Given the description of an element on the screen output the (x, y) to click on. 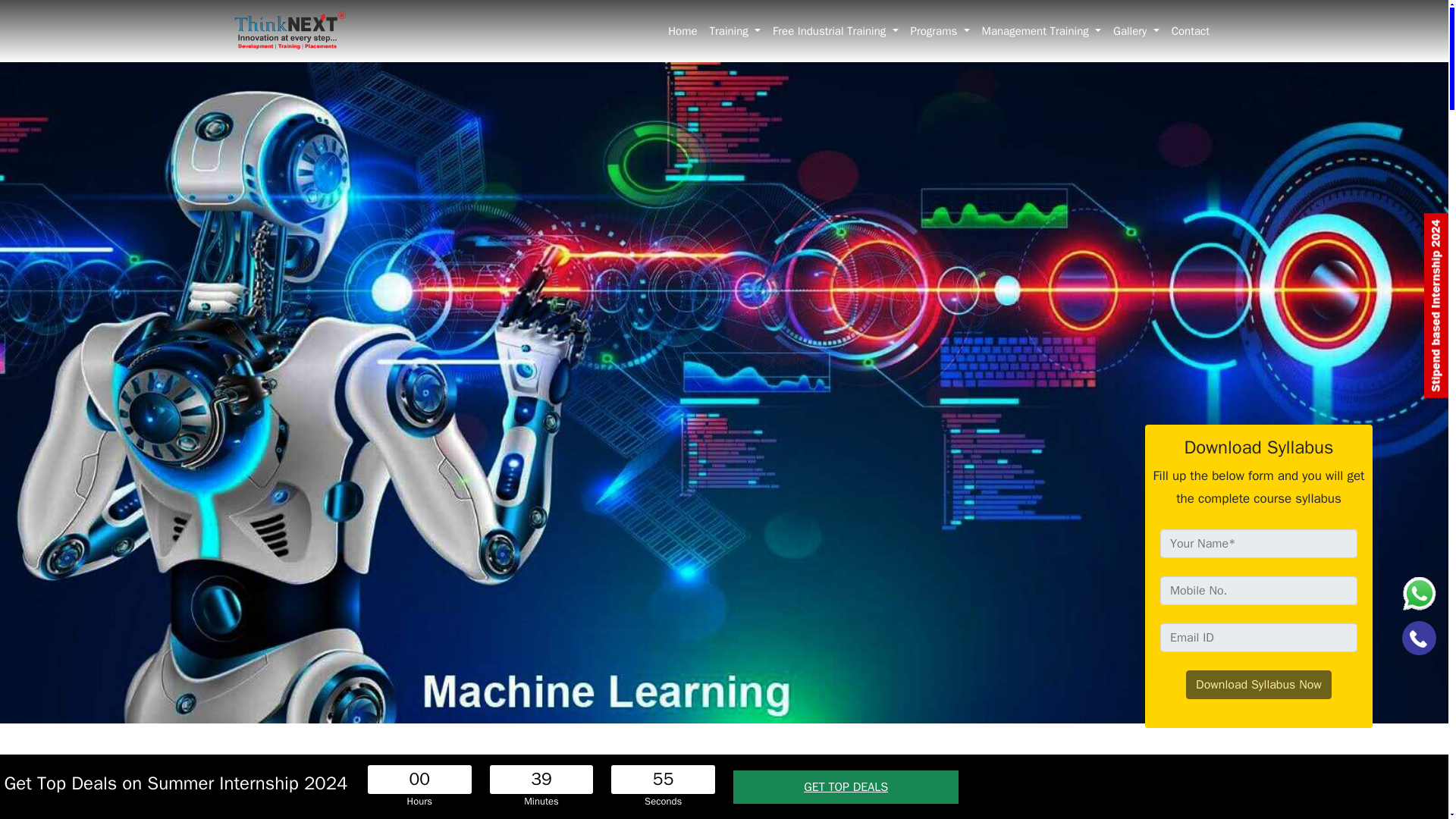
Download Syllabus Now (1259, 684)
Training (735, 31)
Home (682, 31)
